Given the description of an element on the screen output the (x, y) to click on. 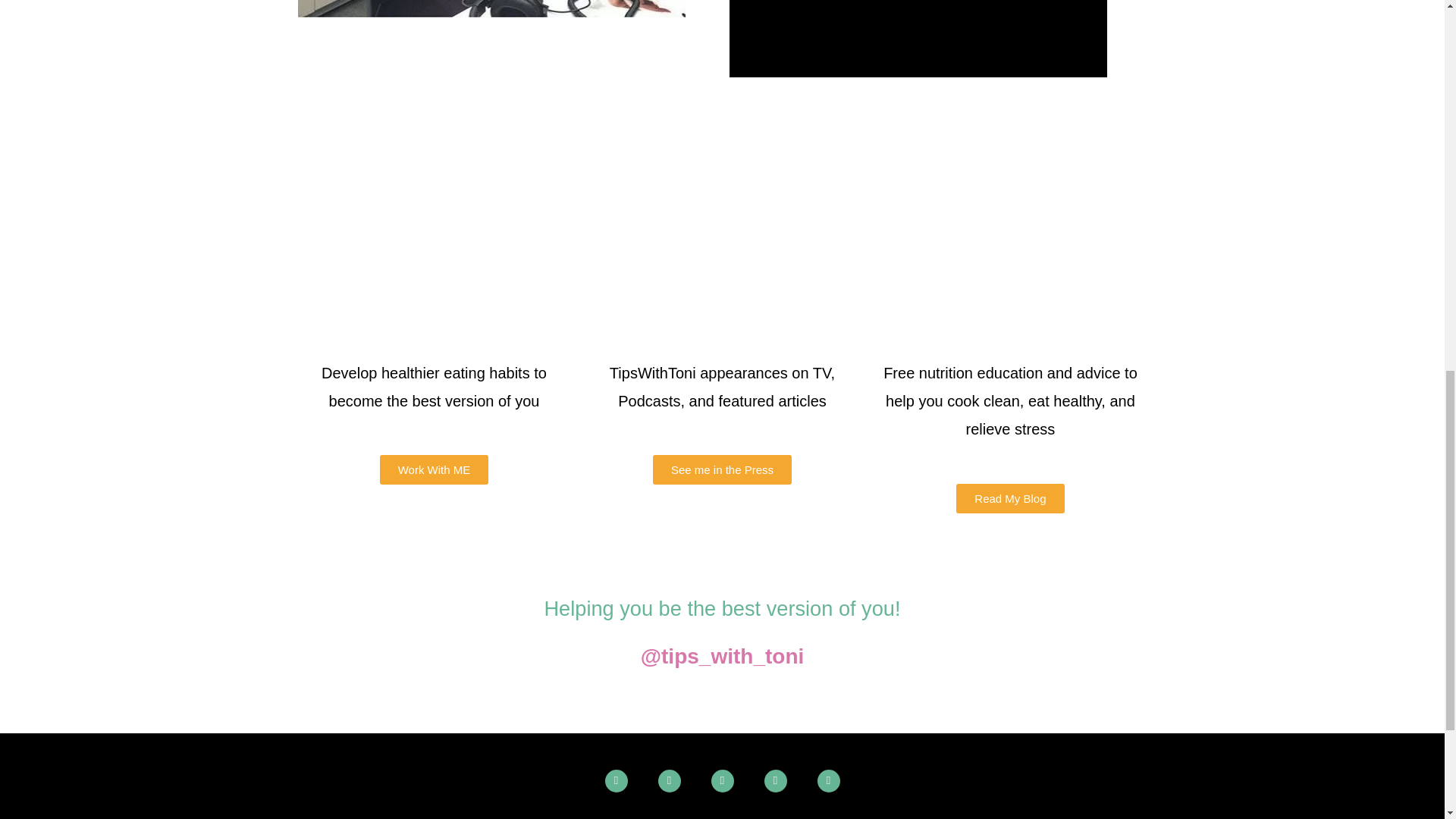
CONTACT (1040, 813)
ONCE UPON A DIET (741, 813)
ABOUT (394, 813)
SPEAKING (872, 813)
COURSES (611, 813)
Read My Blog (1010, 498)
See me in the Press (722, 469)
1:1 COACHING (497, 813)
Work With ME (434, 469)
BLOG (957, 813)
